Given the description of an element on the screen output the (x, y) to click on. 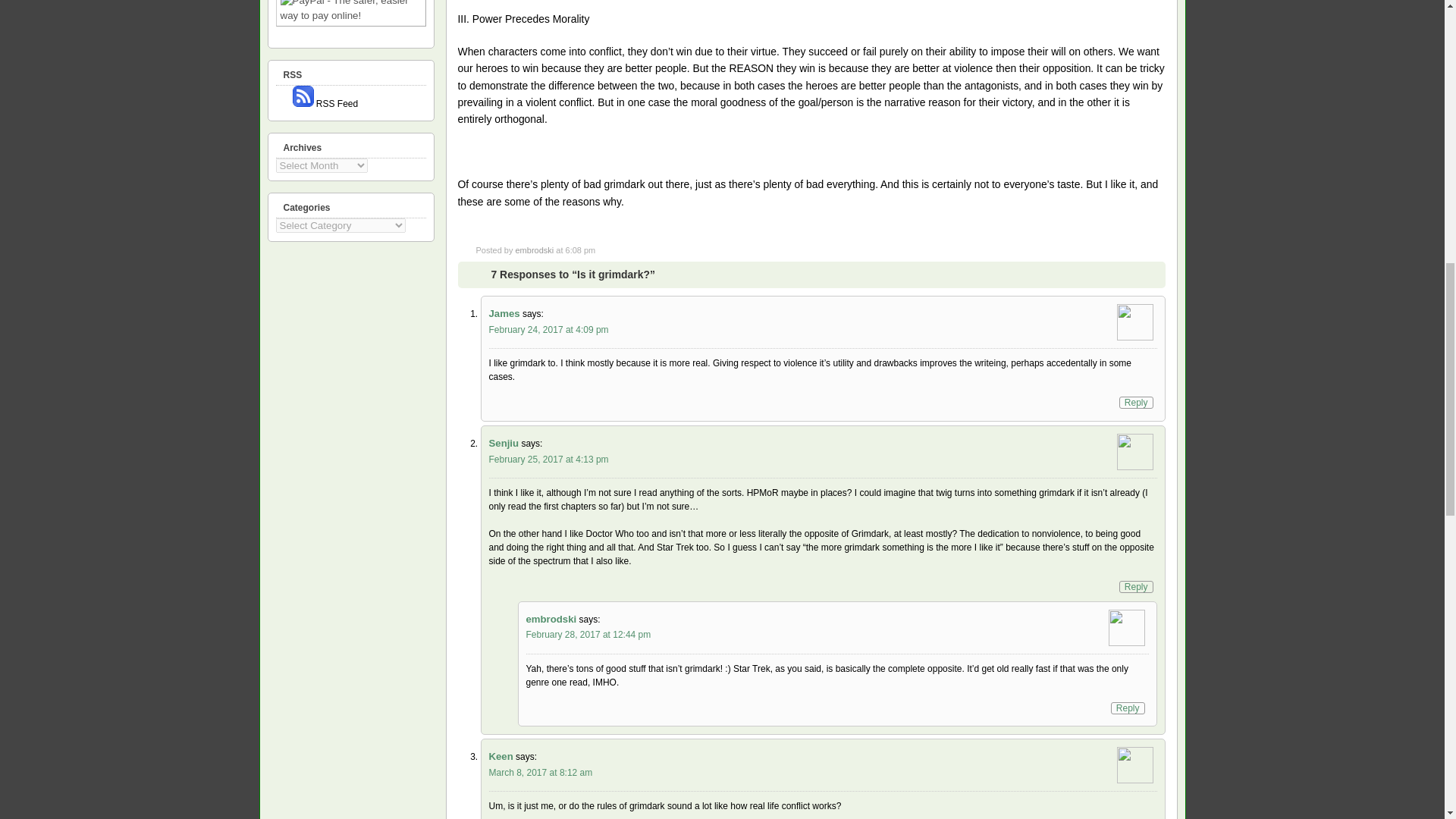
embrodski (534, 249)
Reply (1136, 402)
RSS Feed (325, 103)
February 24, 2017 at 4:09 pm (547, 329)
February 28, 2017 at 12:44 pm (587, 634)
Reply (1136, 586)
March 8, 2017 at 8:12 am (539, 772)
February 25, 2017 at 4:13 pm (547, 459)
Reply (1127, 707)
